Given the description of an element on the screen output the (x, y) to click on. 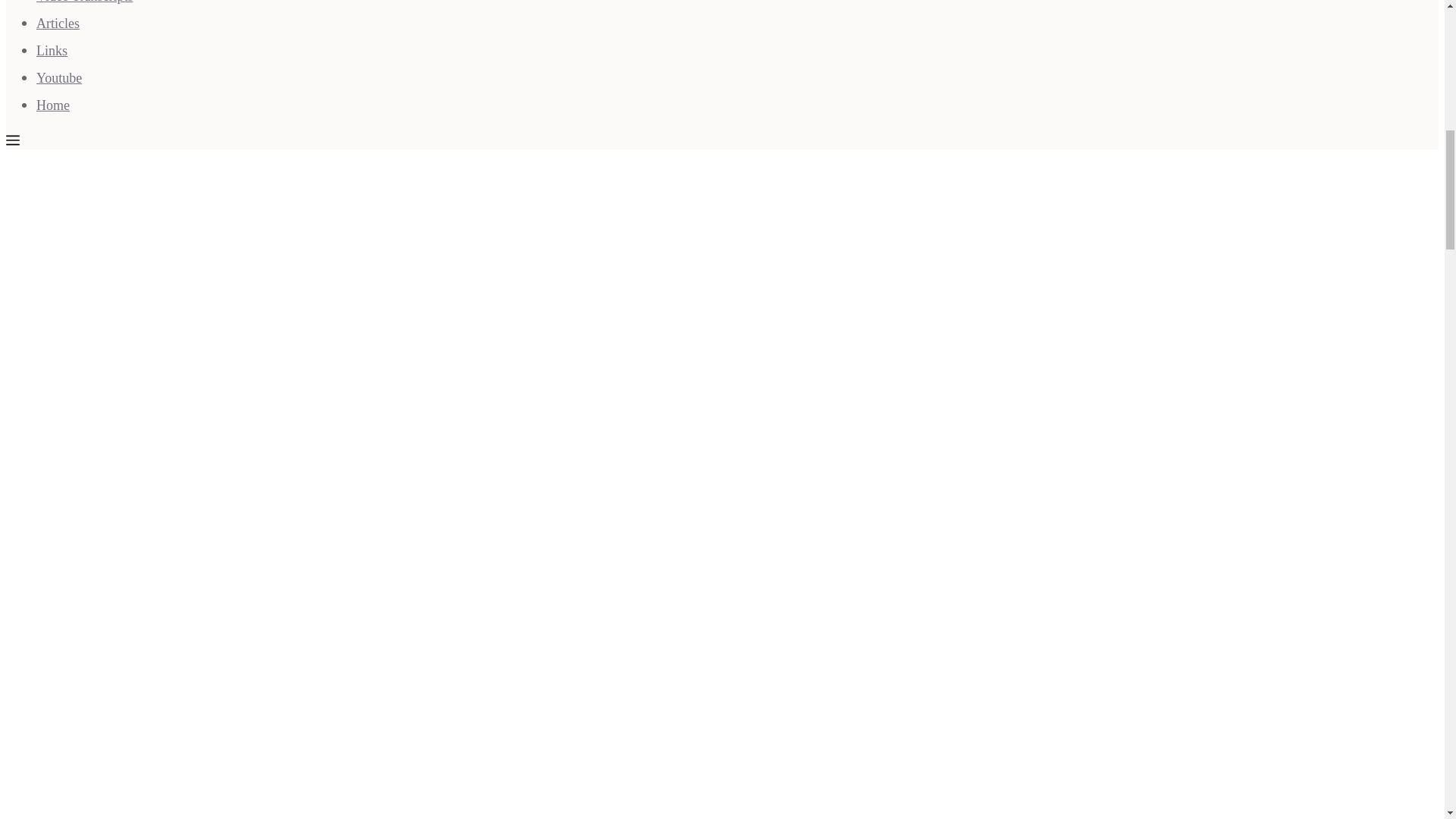
Video Transcripts (84, 2)
Links (51, 50)
Home (52, 105)
Articles (58, 23)
Youtube (58, 77)
